Given the description of an element on the screen output the (x, y) to click on. 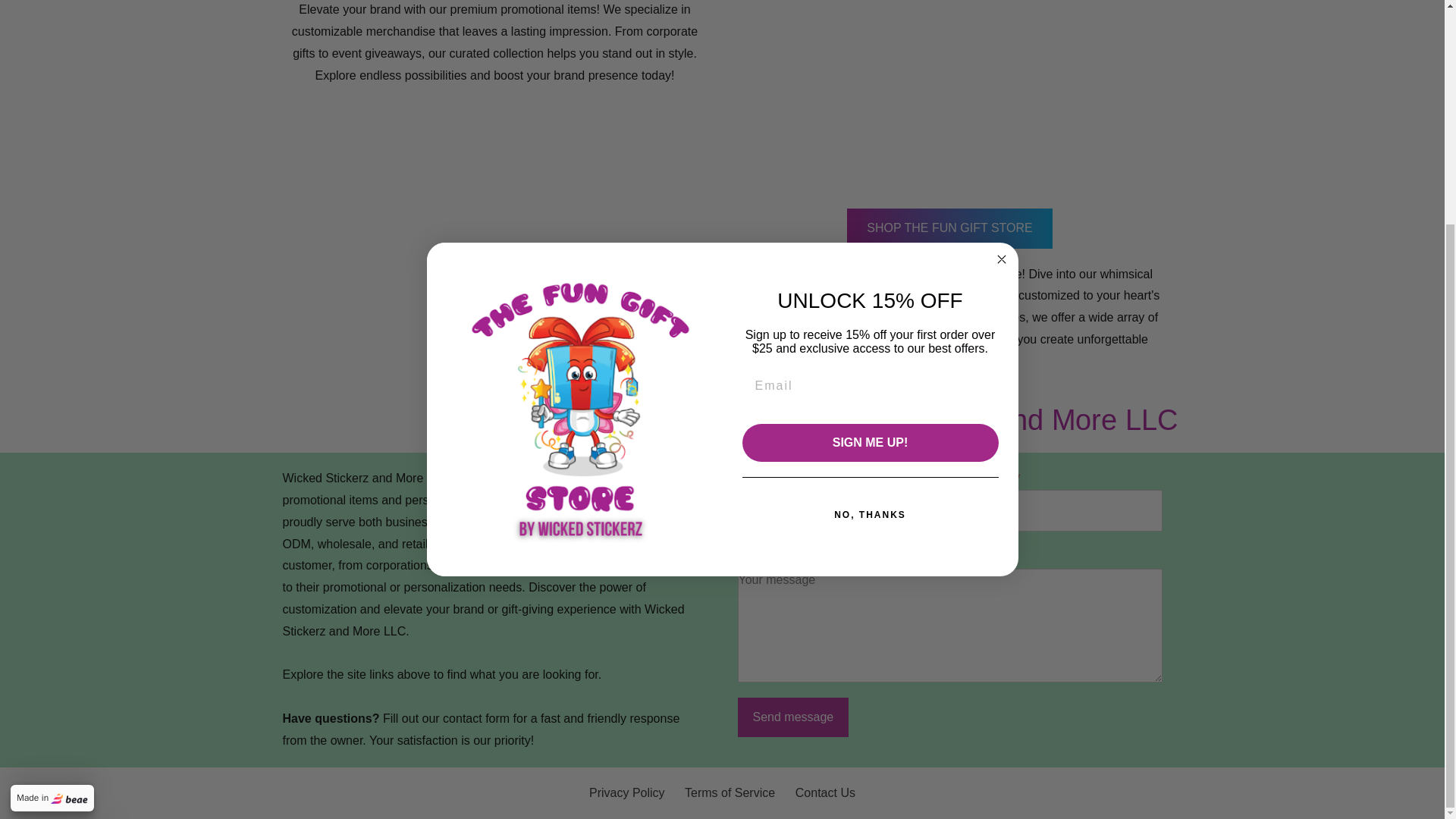
Made in (52, 499)
Contact Us (825, 792)
Privacy Policy (627, 792)
NO, THANKS (869, 215)
Privacy Policy (627, 792)
Terms of Service (729, 792)
Terms of Service (729, 792)
Contact Us (825, 792)
SHOP THE FUN GIFT STORE (949, 228)
SIGN ME UP! (869, 143)
Send message (792, 717)
